Given the description of an element on the screen output the (x, y) to click on. 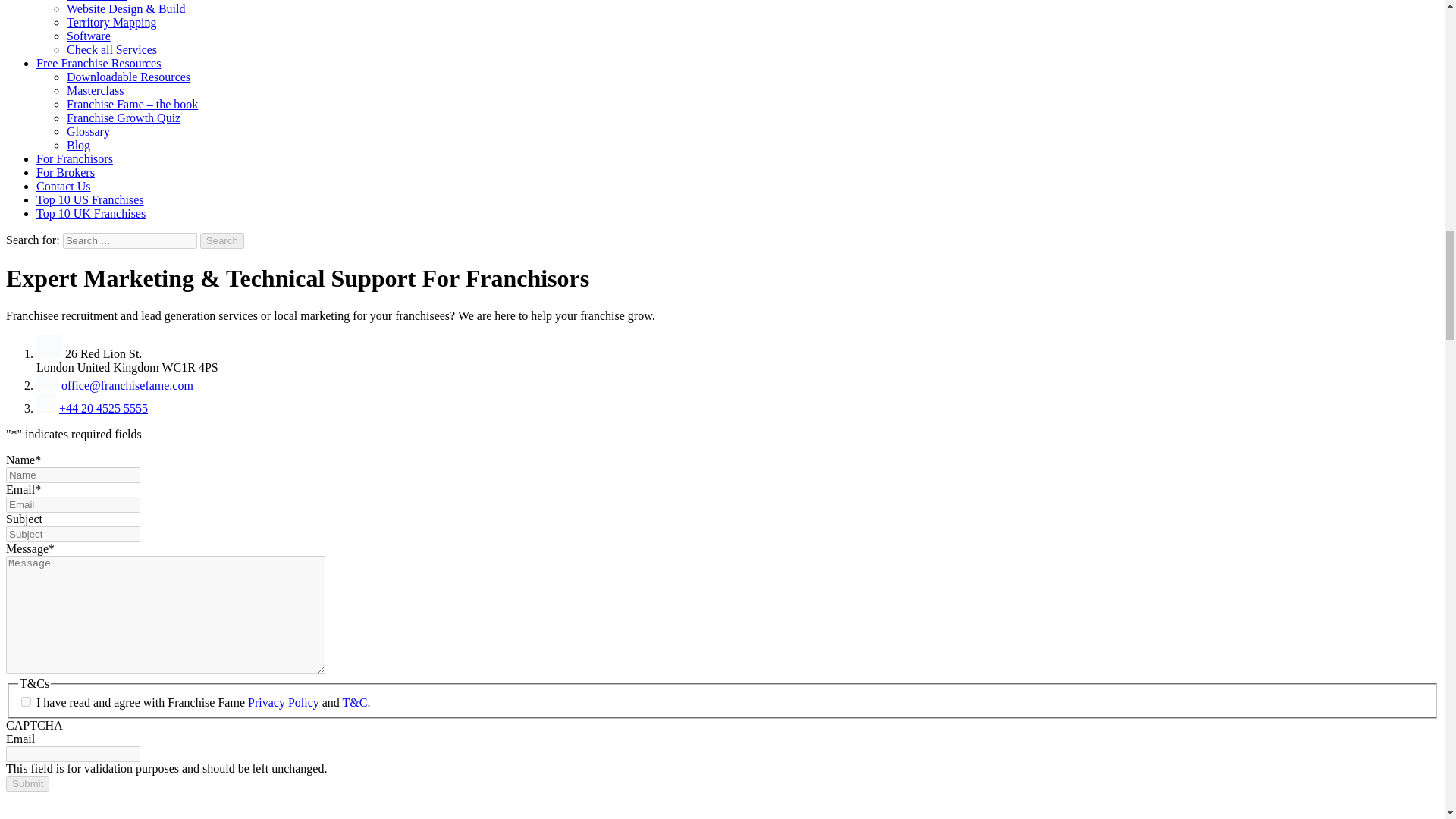
1 (25, 701)
Search (222, 240)
Search (222, 240)
Submit (27, 783)
